Given the description of an element on the screen output the (x, y) to click on. 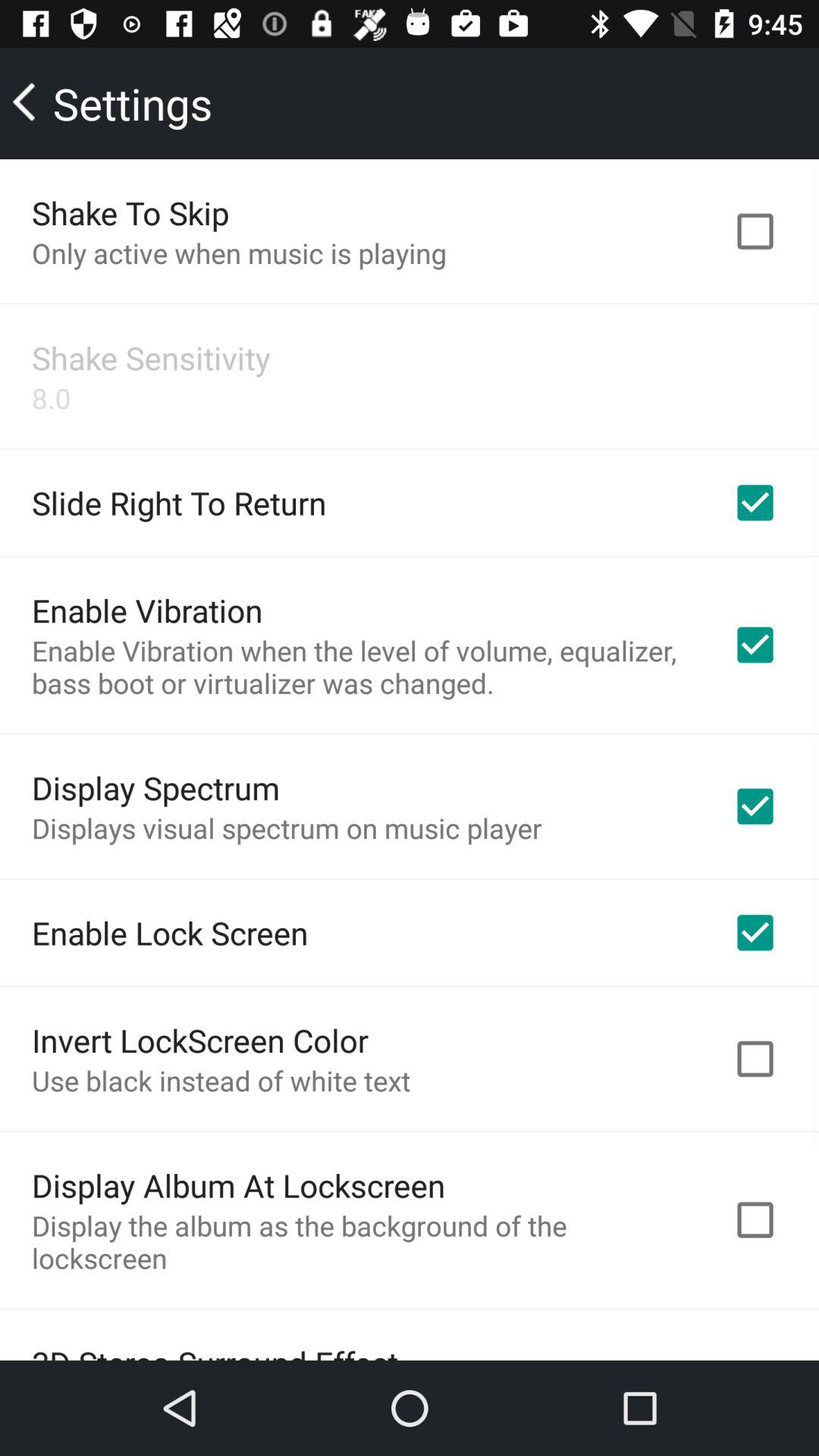
turn on the item above only active when icon (130, 212)
